Given the description of an element on the screen output the (x, y) to click on. 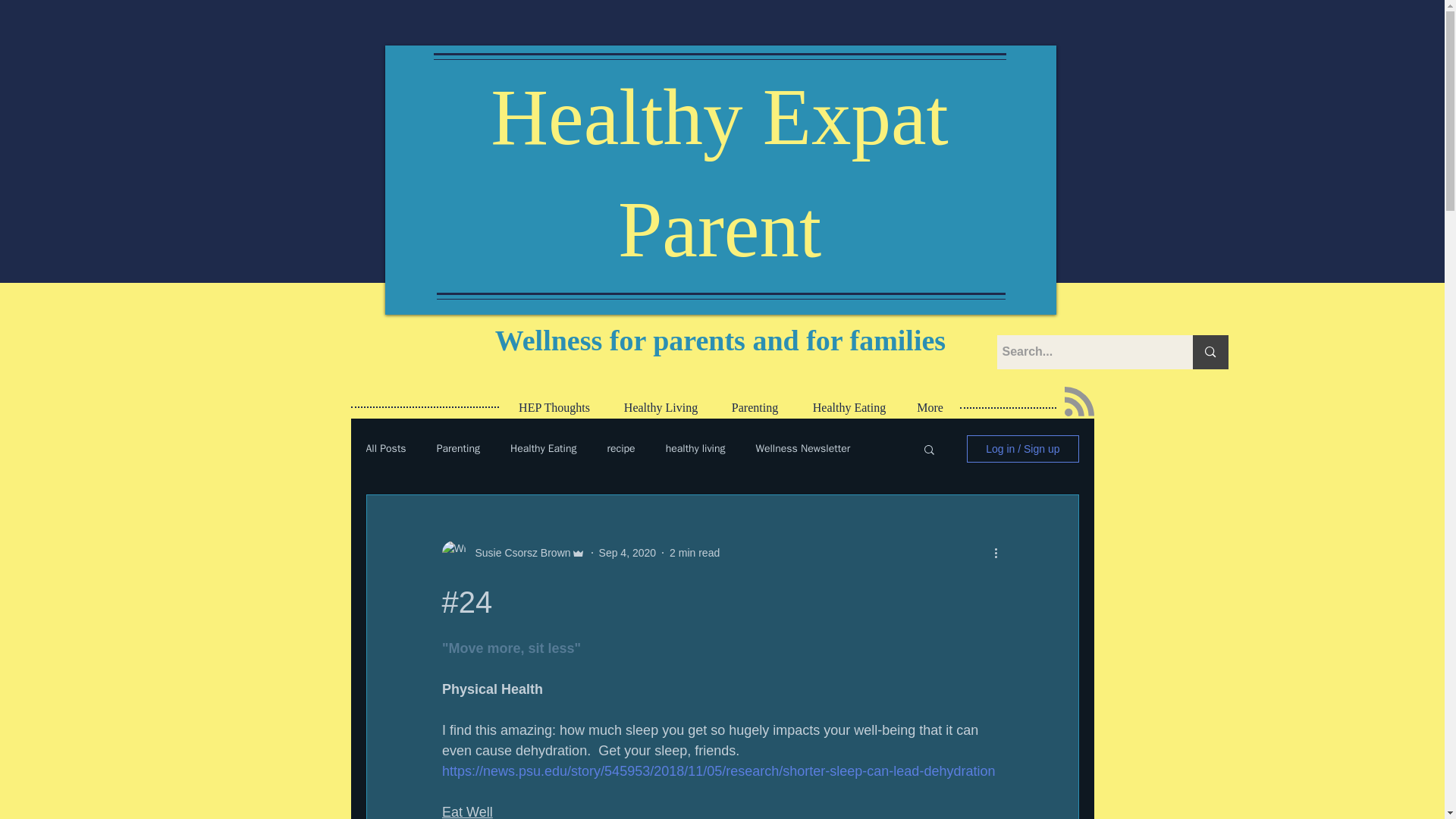
2 min read (694, 551)
Parenting (458, 448)
Susie Csorsz Brown (517, 552)
Wellness Newsletter (802, 448)
recipe (620, 448)
Healthy Eating (543, 448)
Sep 4, 2020 (627, 551)
HEP Thoughts (554, 407)
All Posts (385, 448)
Parenting (754, 407)
Healthy Living (660, 407)
healthy living (695, 448)
Healthy Eating (848, 407)
